Given the description of an element on the screen output the (x, y) to click on. 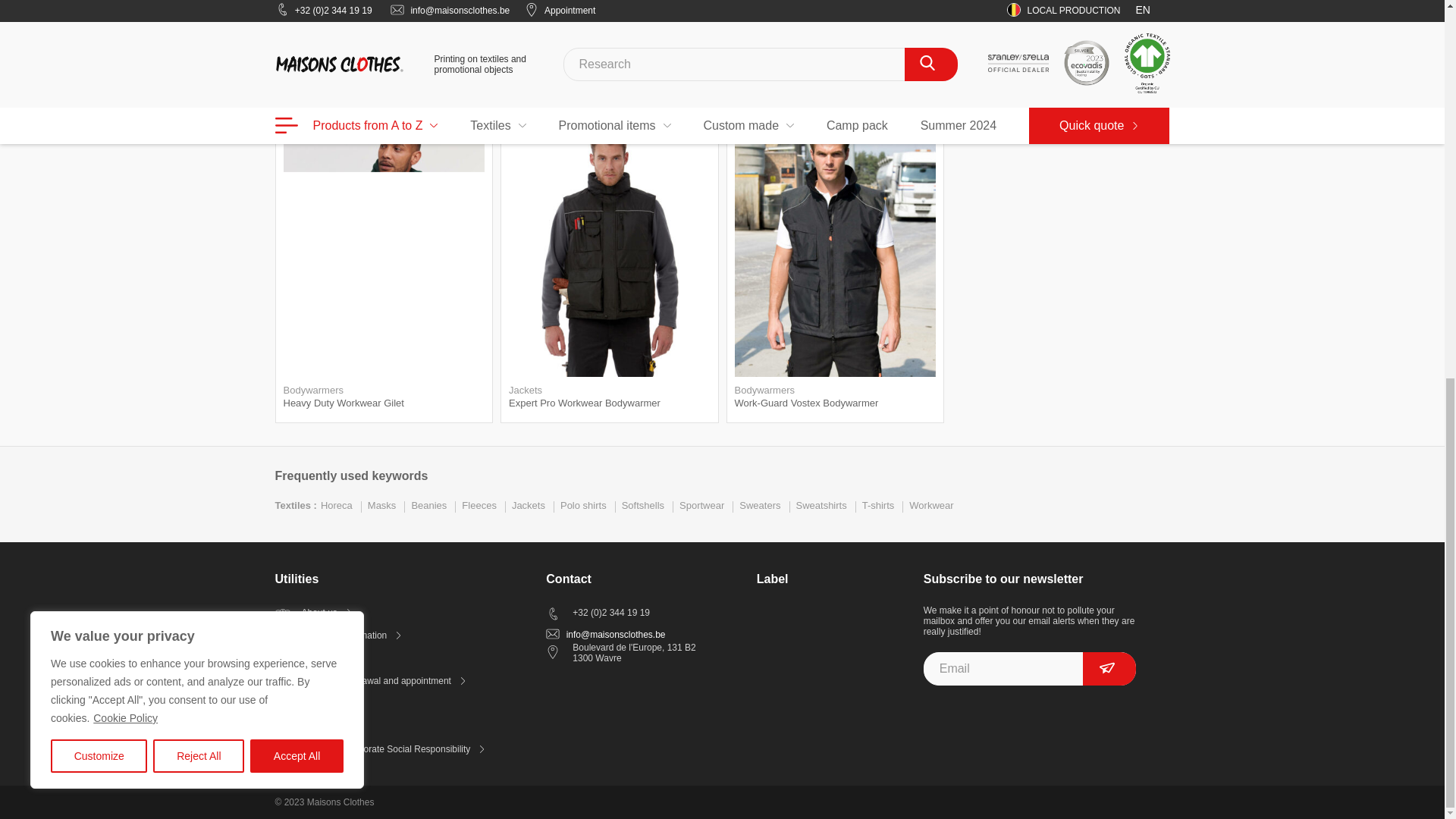
Reject All (198, 56)
Cookie Policy (125, 18)
Accept All (296, 56)
Customize (98, 56)
